Given the description of an element on the screen output the (x, y) to click on. 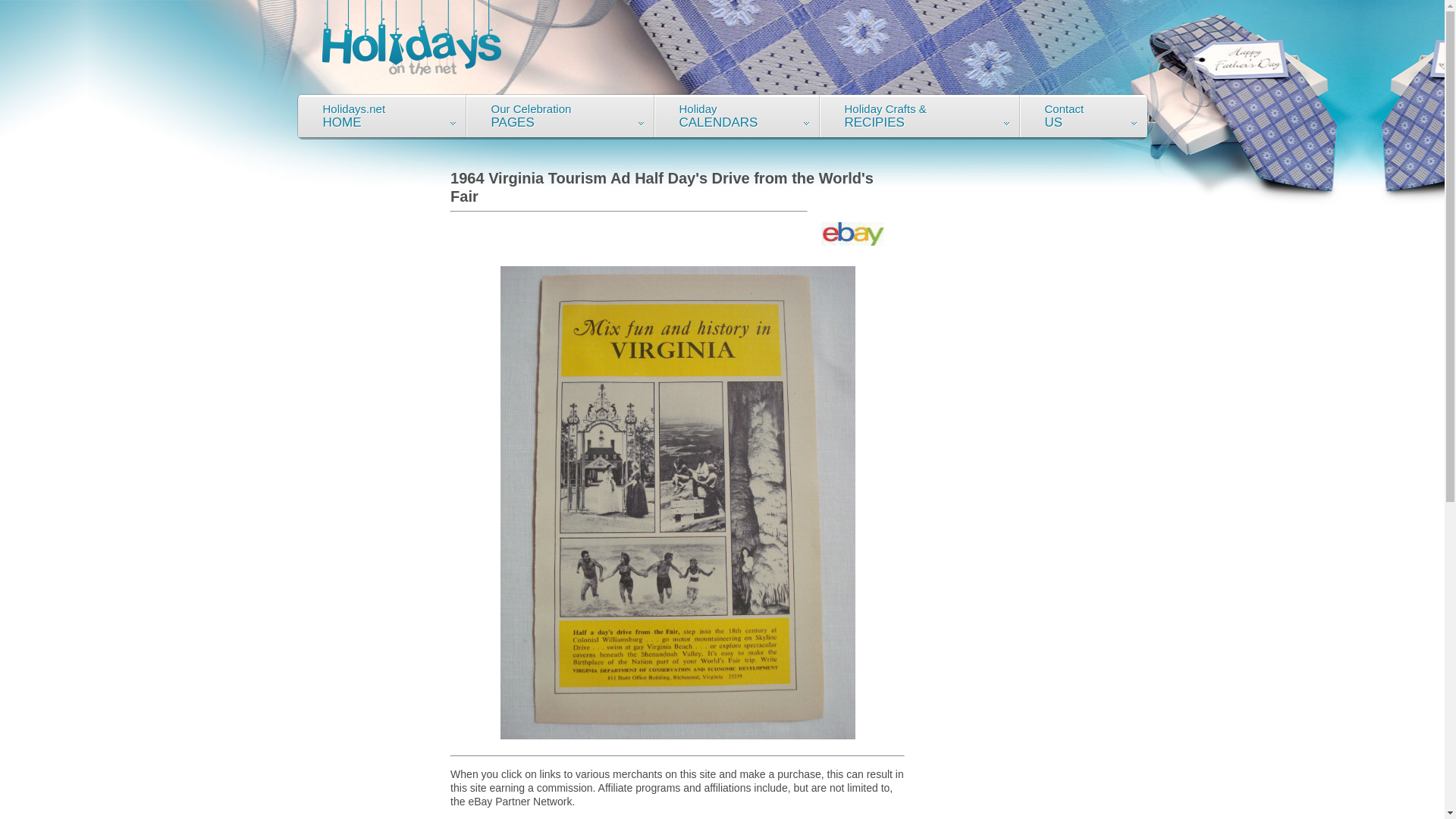
Holidays on the net (559, 116)
